Given the description of an element on the screen output the (x, y) to click on. 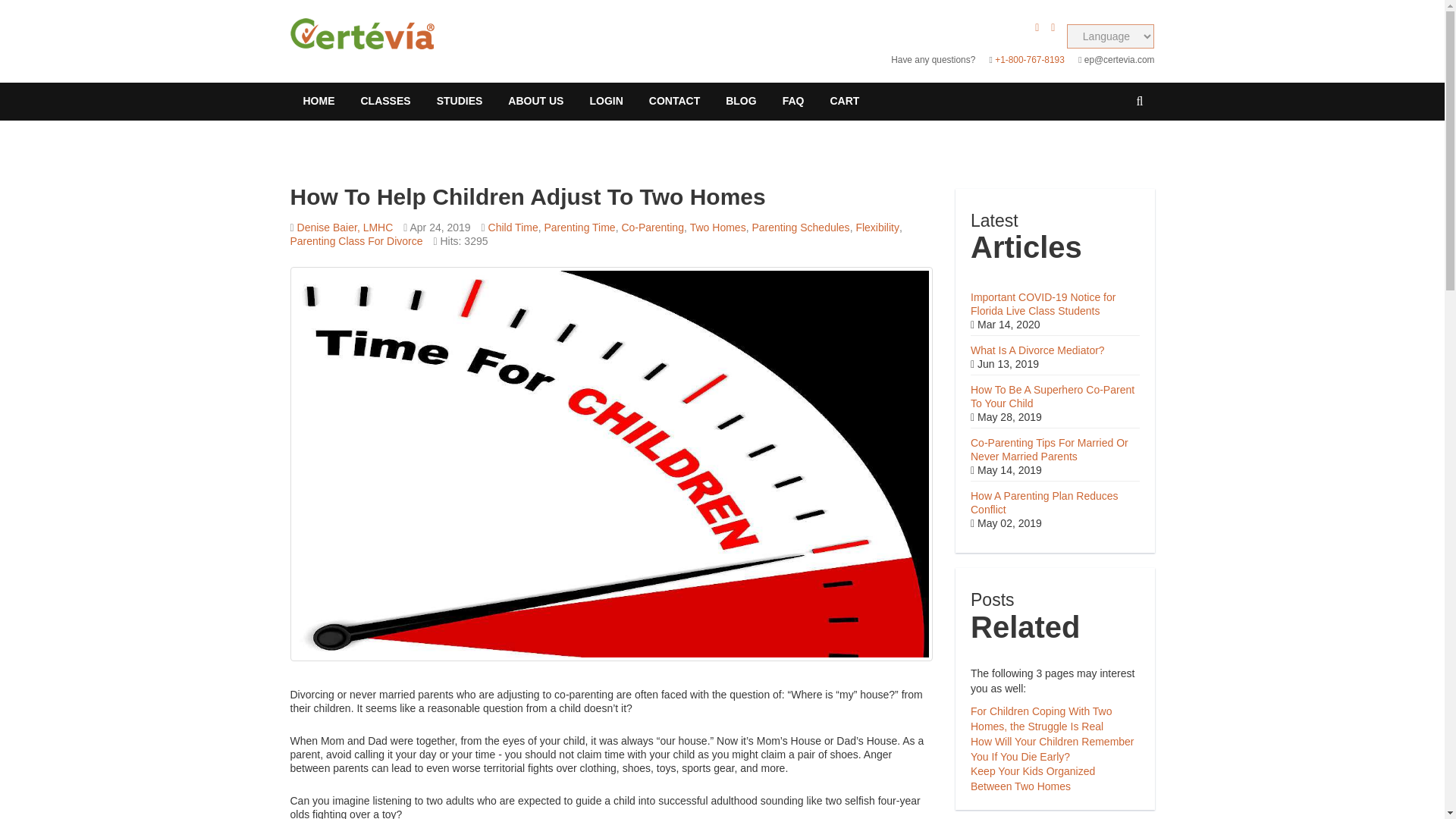
How Will Your Children Remember You If You Die Early? (1052, 748)
STUDIES (459, 101)
CART (844, 101)
CLASSES (385, 101)
CONTACT (674, 101)
For Children Coping With Two Homes, the Struggle Is Real (1041, 718)
HOME (318, 101)
BLOG (740, 101)
FAQ (793, 101)
ABOUT US (535, 101)
Keep Your Kids Organized Between Two Homes (1032, 778)
LOGIN (605, 101)
